Given the description of an element on the screen output the (x, y) to click on. 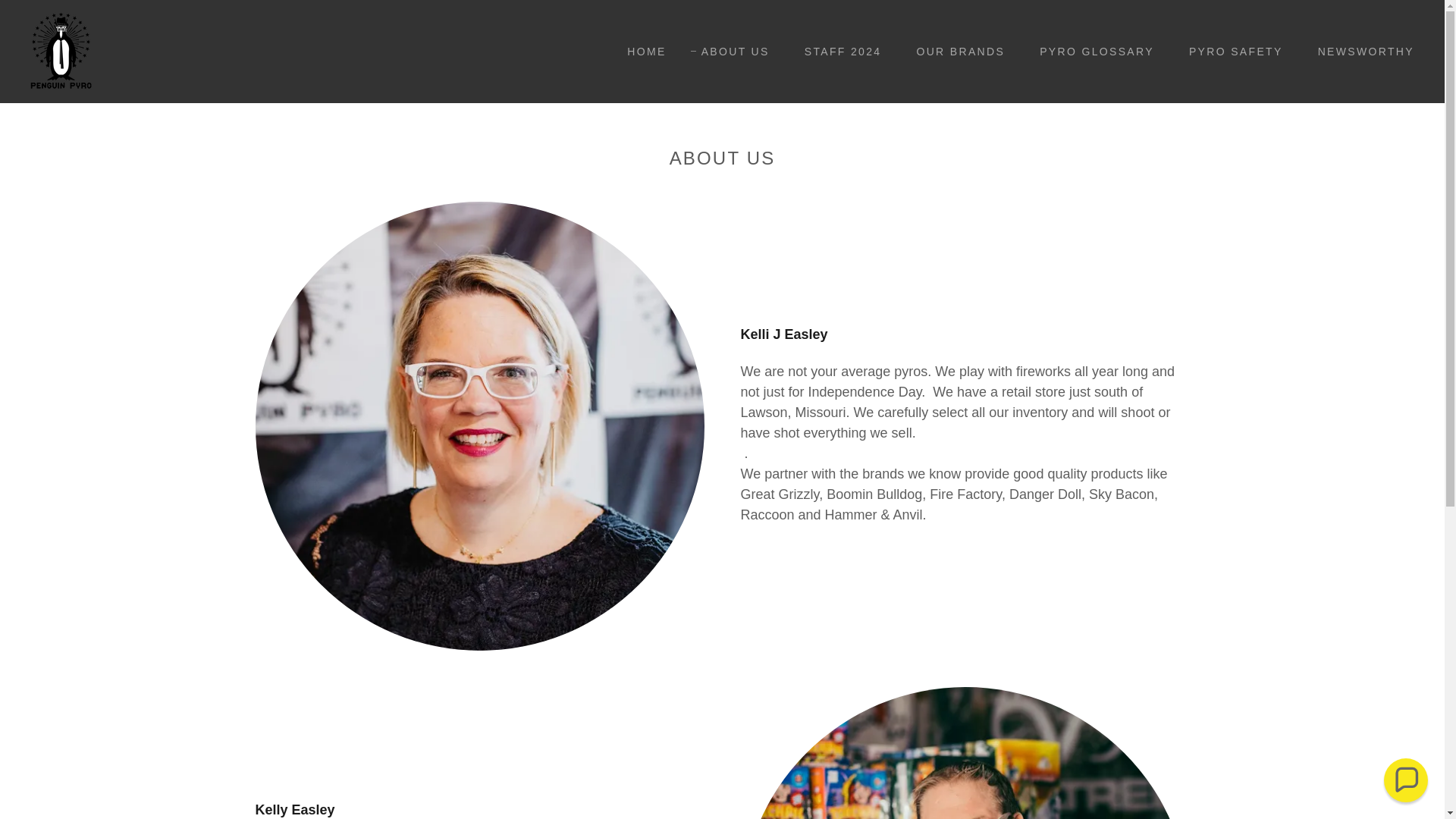
Penguin Pyro (60, 50)
NEWSWORTHY (1360, 51)
PYRO SAFETY (1230, 51)
HOME (640, 51)
ABOUT US (730, 51)
PYRO GLOSSARY (1091, 51)
OUR BRANDS (955, 51)
STAFF 2024 (837, 51)
